Given the description of an element on the screen output the (x, y) to click on. 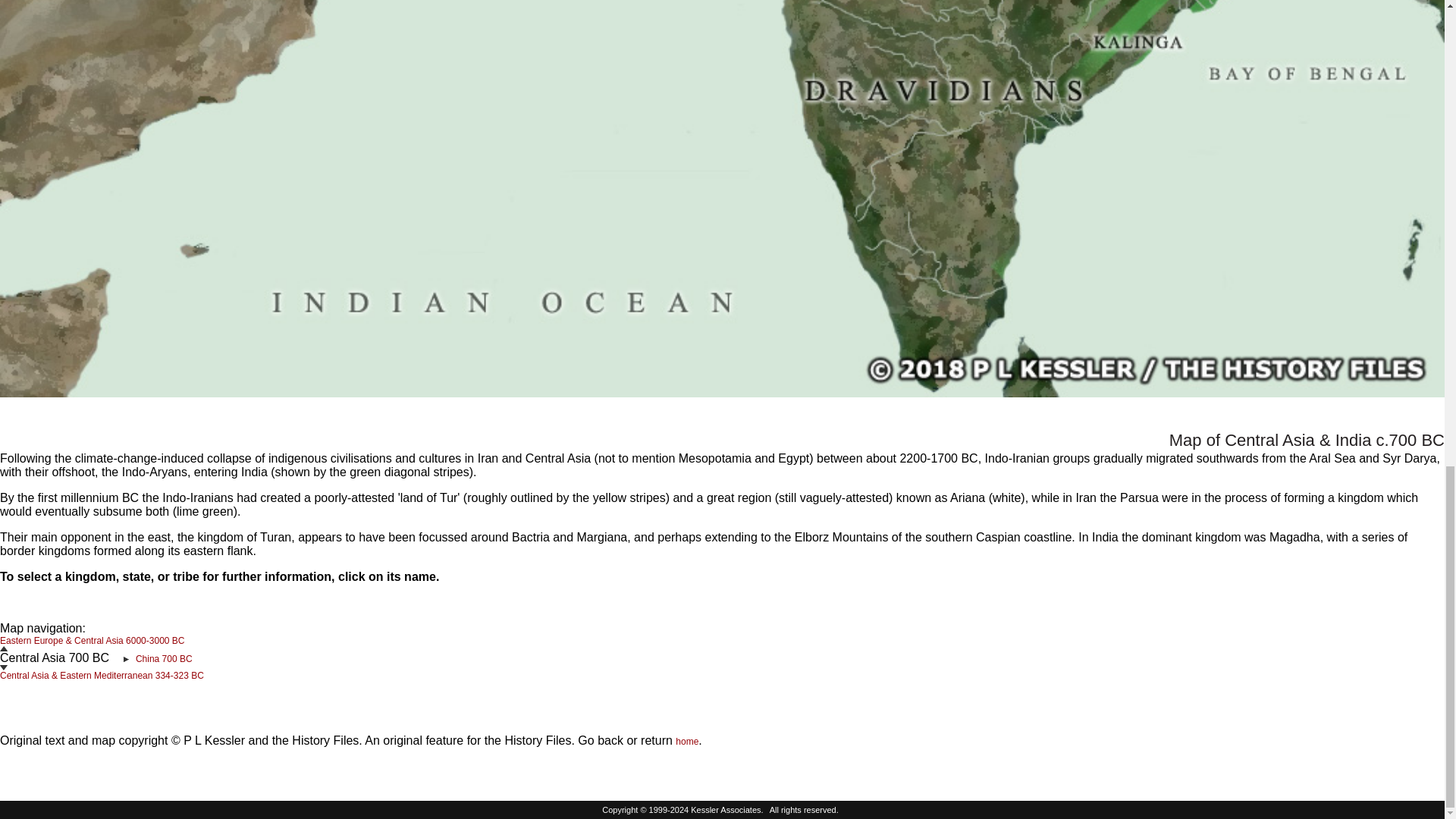
back (609, 739)
home (686, 741)
Skip backwards (3, 648)
Skip forwards (3, 667)
China 700 BC (163, 658)
Kessler Associates. (728, 809)
